Given the description of an element on the screen output the (x, y) to click on. 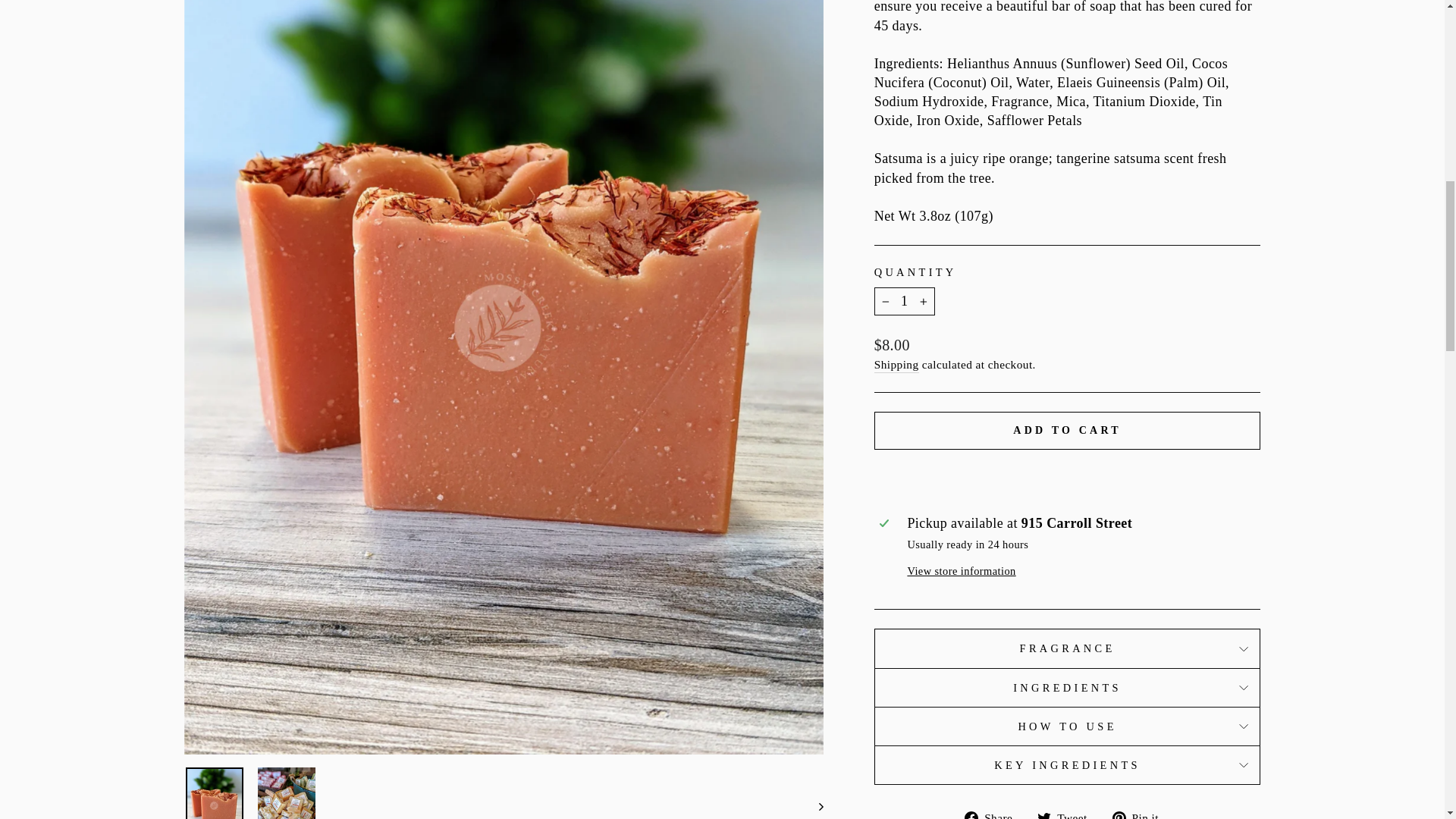
Pin on Pinterest (1141, 813)
twitter (1043, 815)
1 (904, 301)
Share on Facebook (993, 813)
Tweet on Twitter (1066, 813)
